Given the description of an element on the screen output the (x, y) to click on. 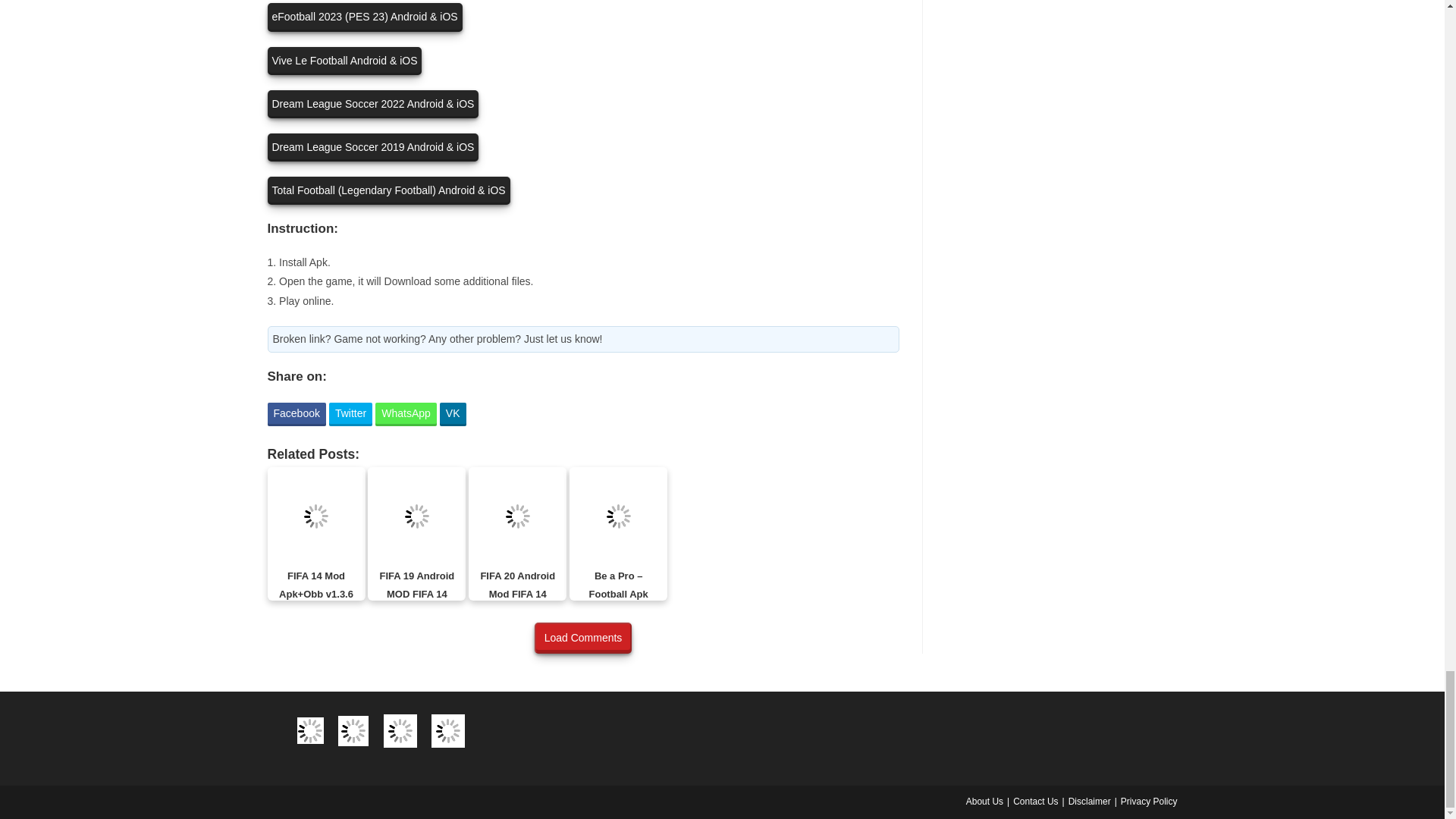
Twitter (350, 413)
VK (452, 413)
Load Comments (582, 637)
Facebook (295, 413)
WhatsApp (405, 413)
